Given the description of an element on the screen output the (x, y) to click on. 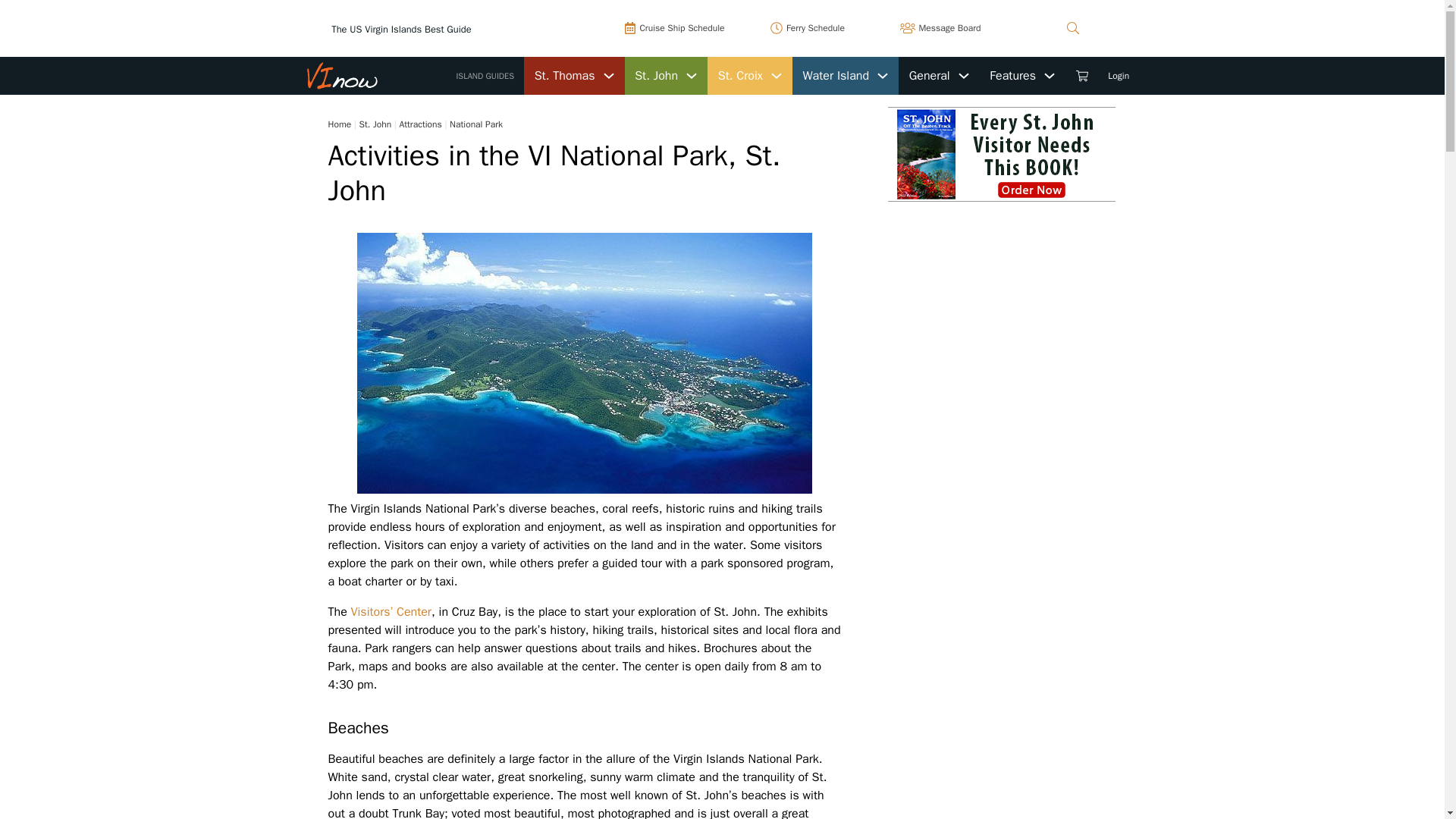
Message Board (939, 27)
St. Thomas (564, 75)
Ferry Schedule (808, 27)
St. John (656, 75)
Cruise Ship Schedule (674, 27)
